Given the description of an element on the screen output the (x, y) to click on. 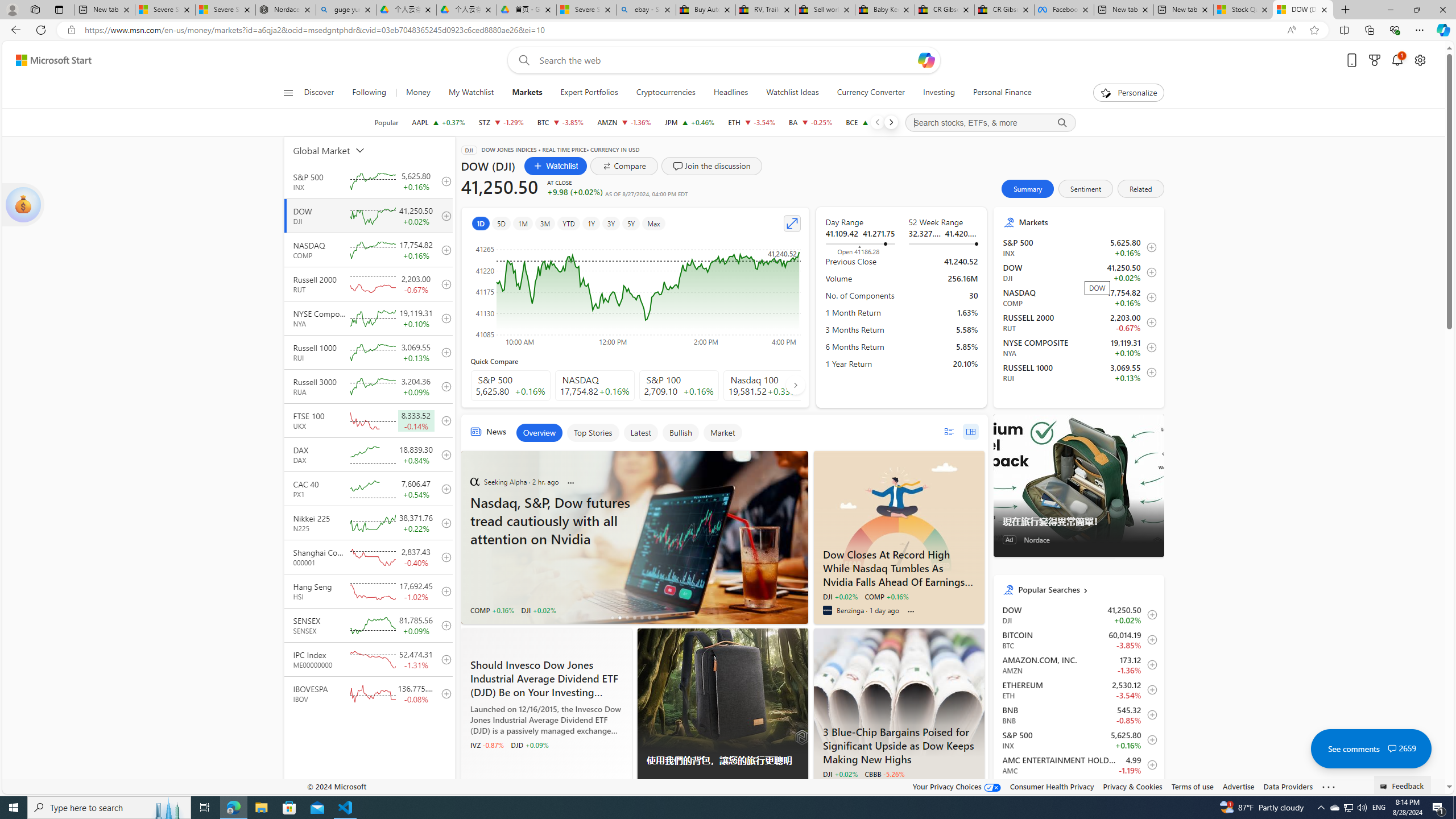
Consumer Health Privacy (1051, 786)
grid layout (970, 431)
ETH Ethereum decrease 2,530.12 -89.57 -3.54% (751, 122)
5Y (630, 223)
Expert Portfolios (589, 92)
Previous (876, 122)
Consumer Health Privacy (1051, 785)
YTD (568, 223)
Bullish (680, 432)
